Given the description of an element on the screen output the (x, y) to click on. 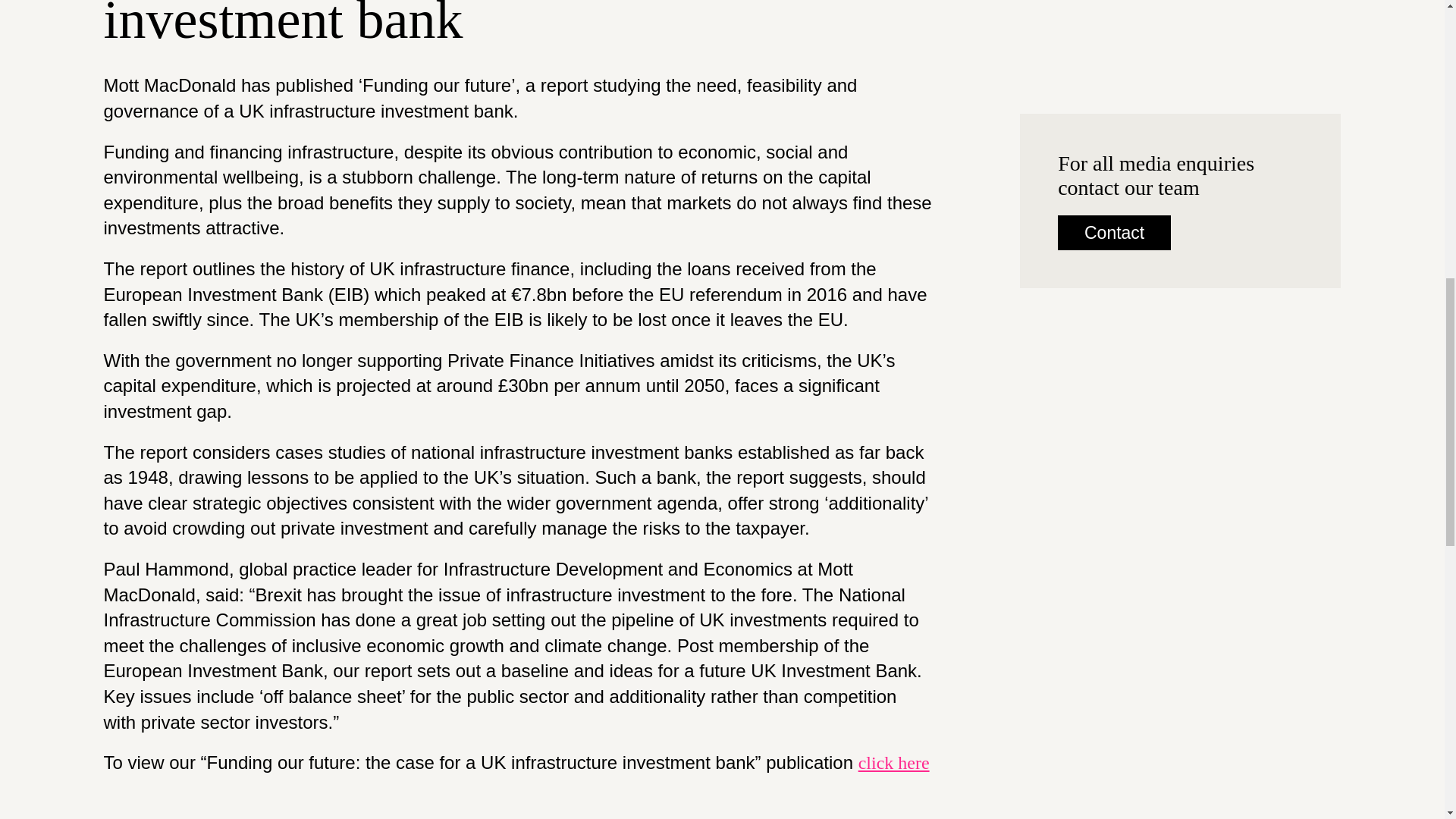
Contact (1114, 232)
click here (894, 762)
